Given the description of an element on the screen output the (x, y) to click on. 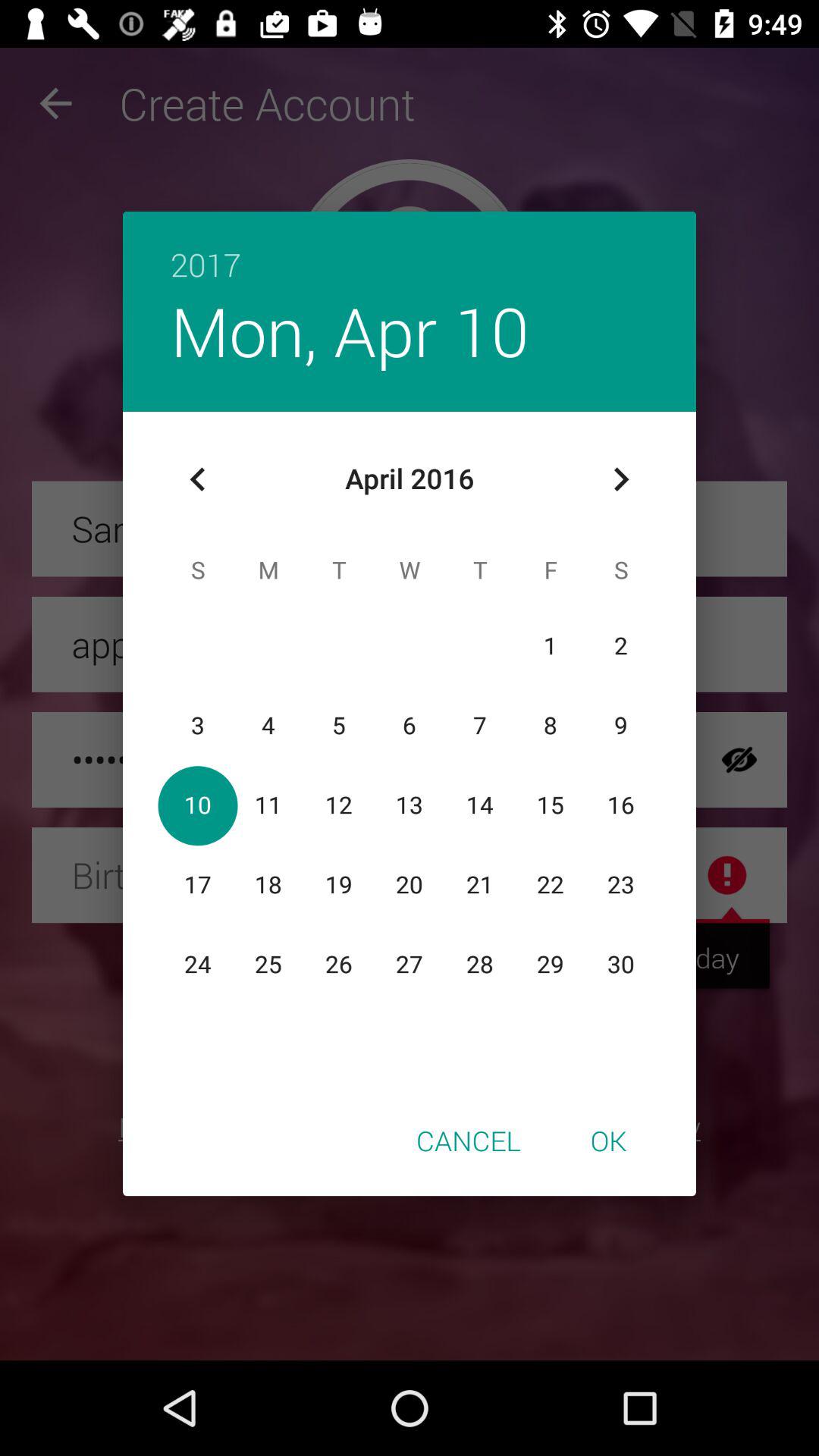
turn off ok at the bottom right corner (608, 1140)
